Given the description of an element on the screen output the (x, y) to click on. 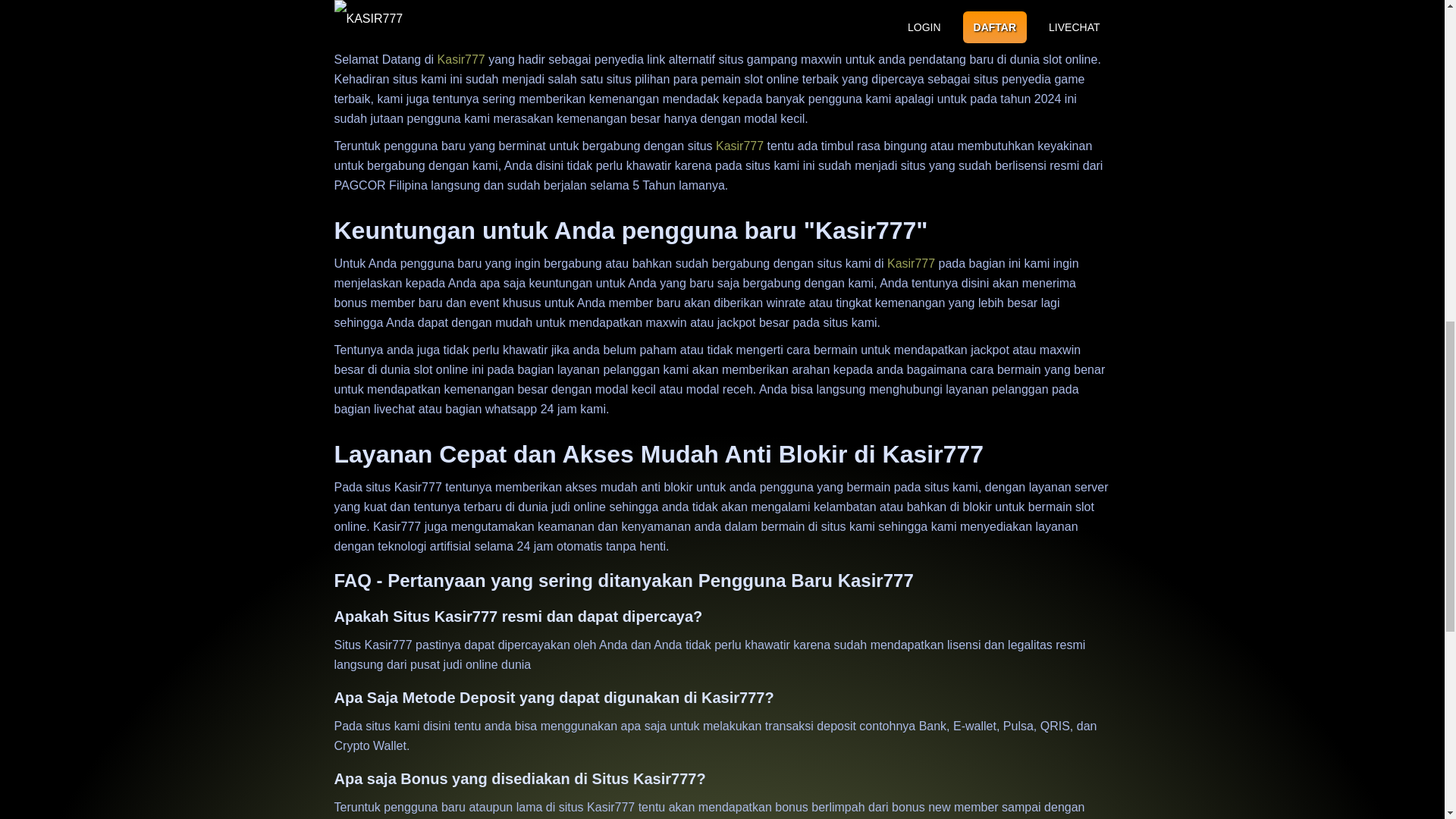
Kasir777 (461, 59)
Kasir777 (910, 263)
Kasir777 (739, 145)
